Given the description of an element on the screen output the (x, y) to click on. 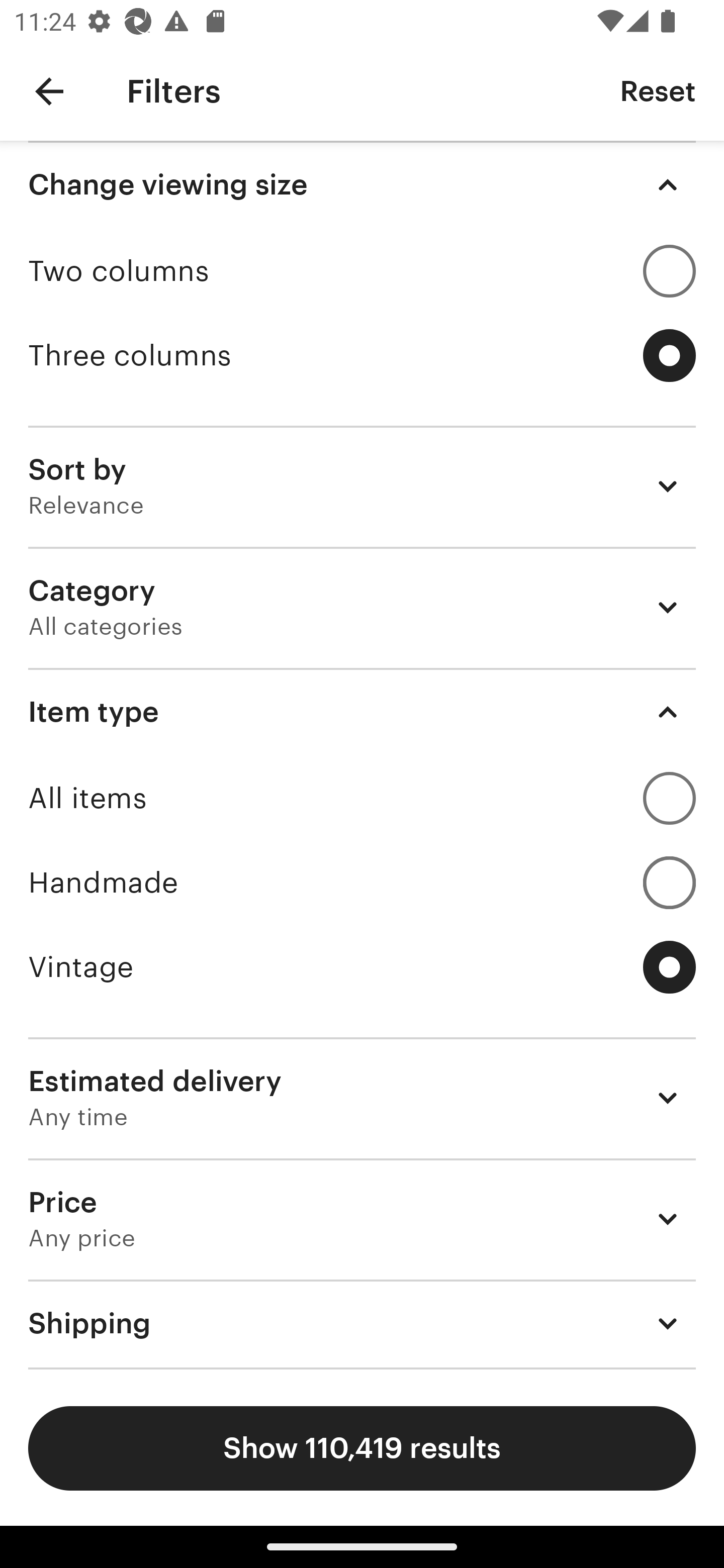
Navigate up (49, 91)
Reset (657, 90)
Change viewing size (362, 184)
Two columns (362, 270)
Three columns (362, 355)
Sort by Relevance (362, 485)
Category All categories (362, 607)
Item type (362, 711)
All items (362, 797)
Handmade (362, 882)
Vintage (362, 967)
Estimated delivery Any time (362, 1098)
Price Any price (362, 1218)
Shipping (362, 1323)
Show 110,419 results Show 248,871 results (361, 1448)
